Given the description of an element on the screen output the (x, y) to click on. 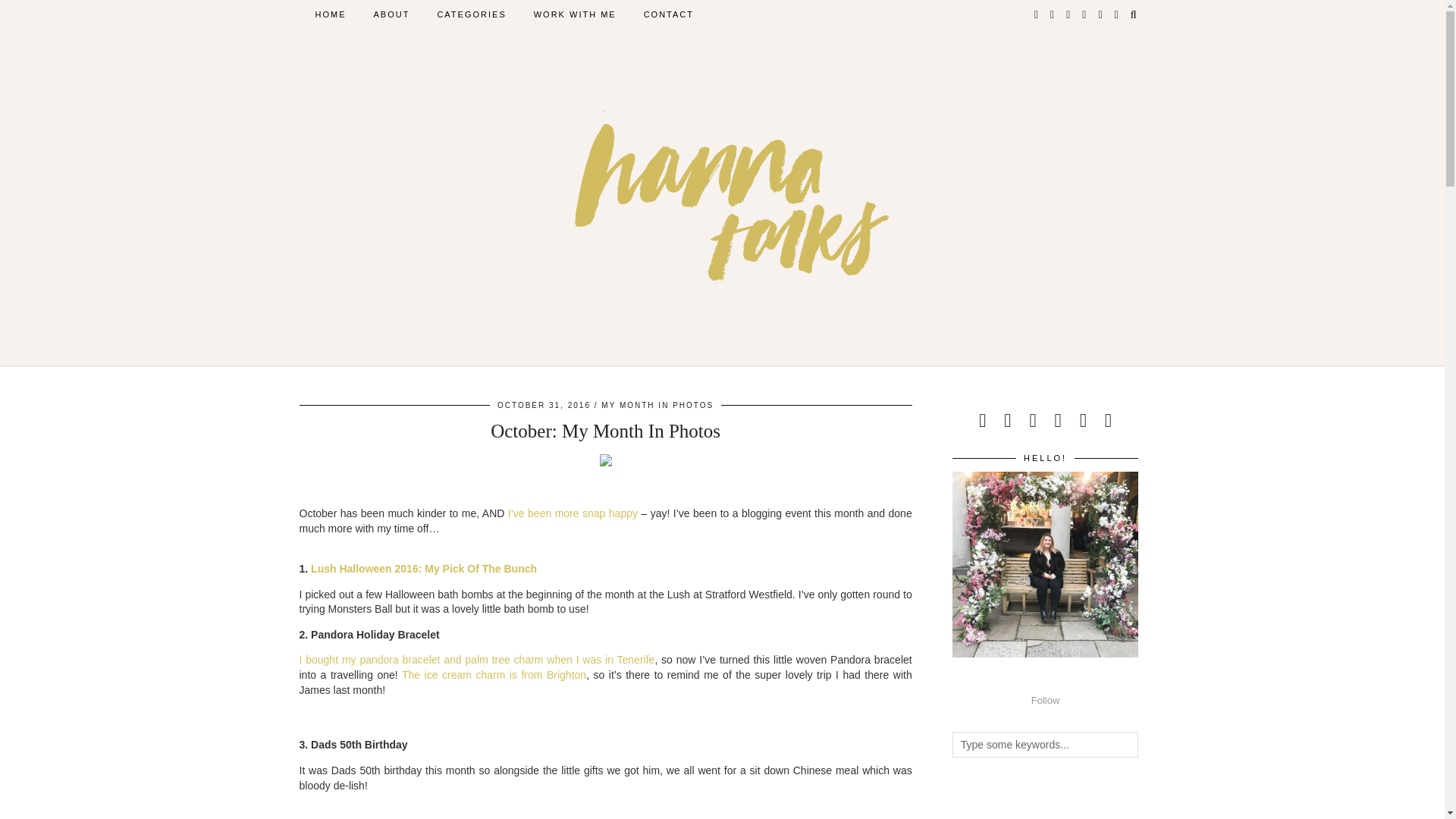
WORK WITH ME (574, 14)
CATEGORIES (471, 14)
HOME (330, 14)
ABOUT (391, 14)
